Given the description of an element on the screen output the (x, y) to click on. 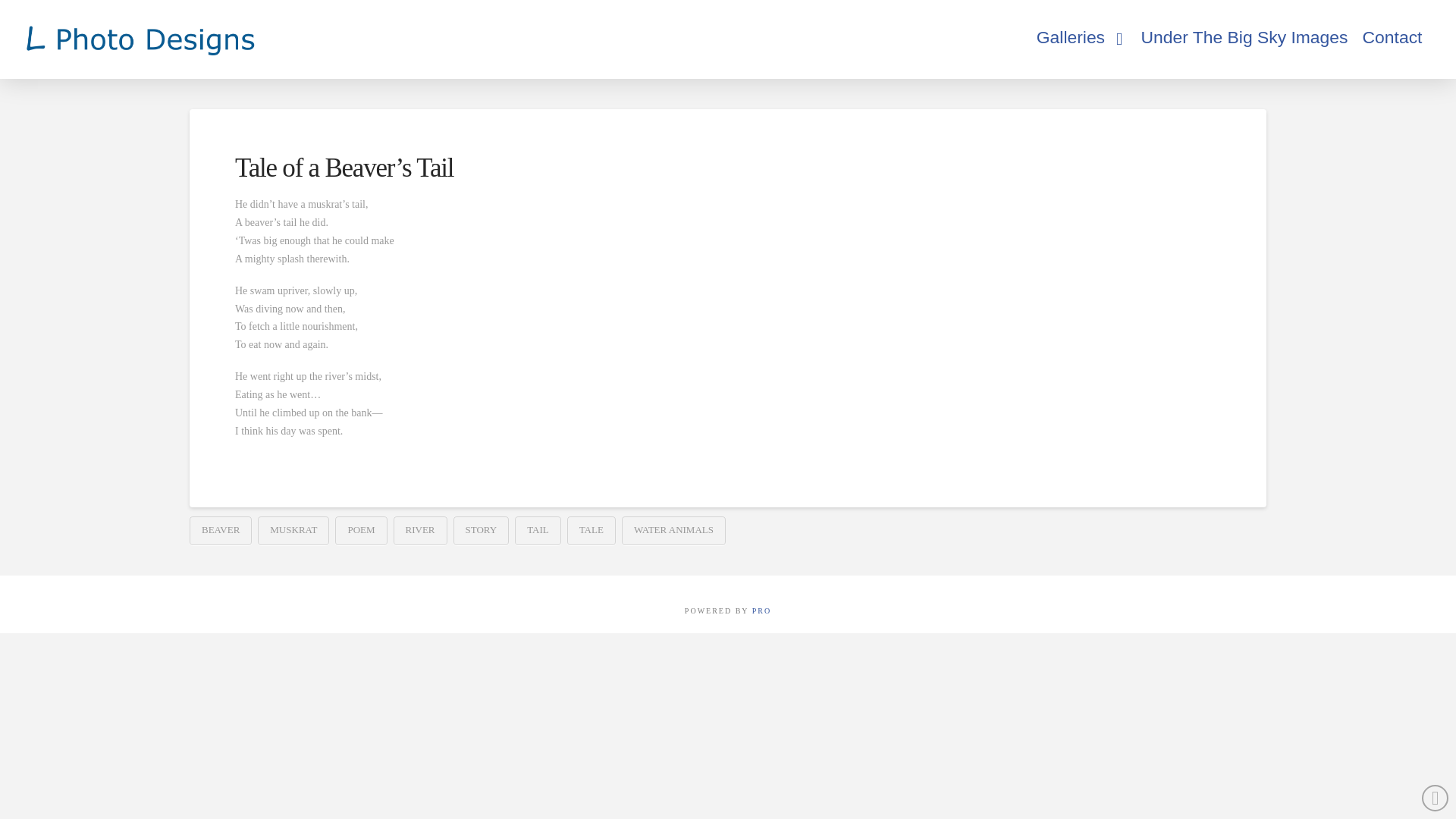
RIVER (419, 530)
Back to Top (1435, 797)
BEAVER (220, 530)
POEM (360, 530)
WATER ANIMALS (673, 530)
Galleries (1081, 39)
Contact (1392, 37)
MUSKRAT (293, 530)
STORY (480, 530)
TAIL (537, 530)
